Given the description of an element on the screen output the (x, y) to click on. 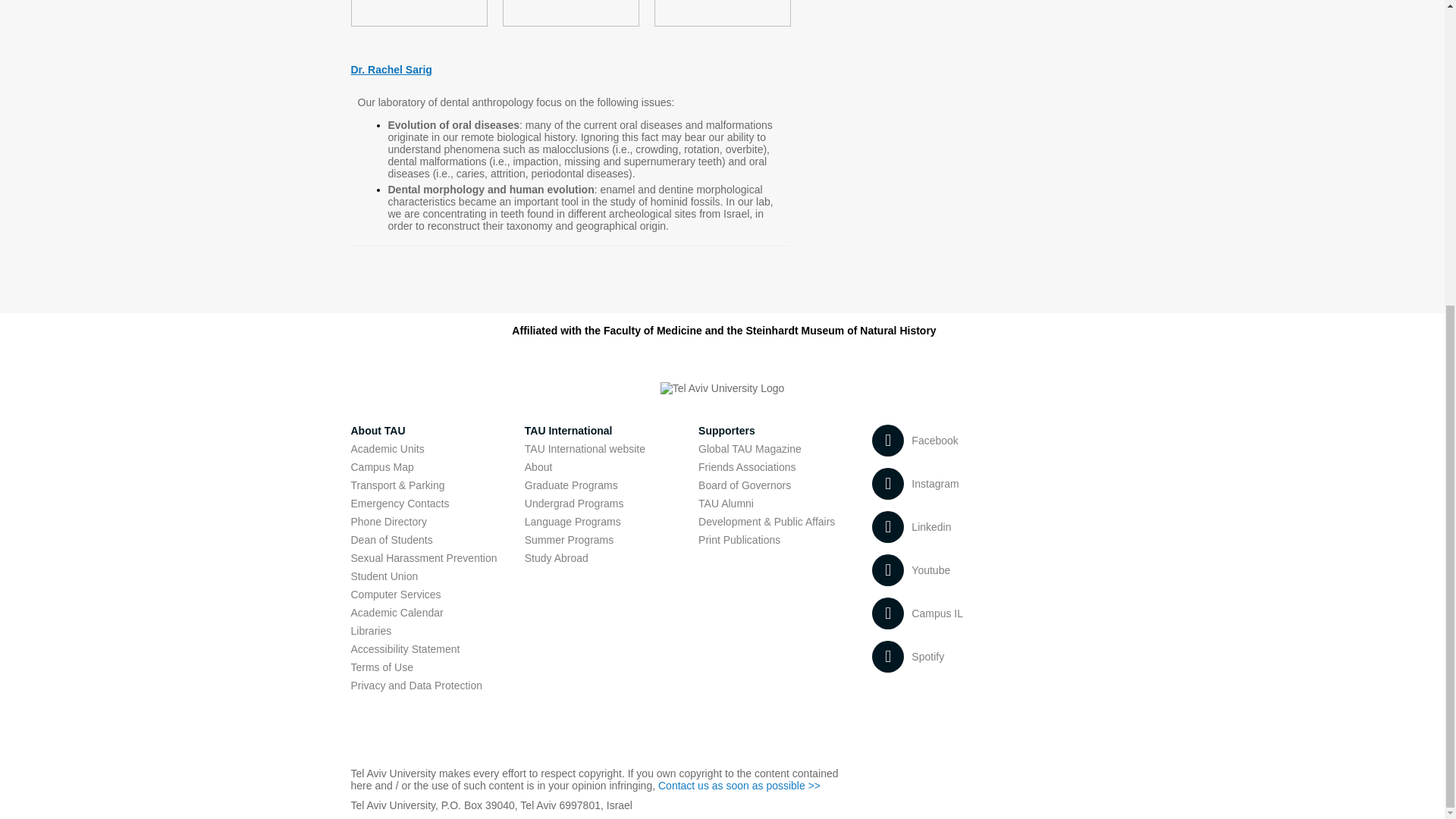
Dr. Rachel Sarig (390, 69)
